Given the description of an element on the screen output the (x, y) to click on. 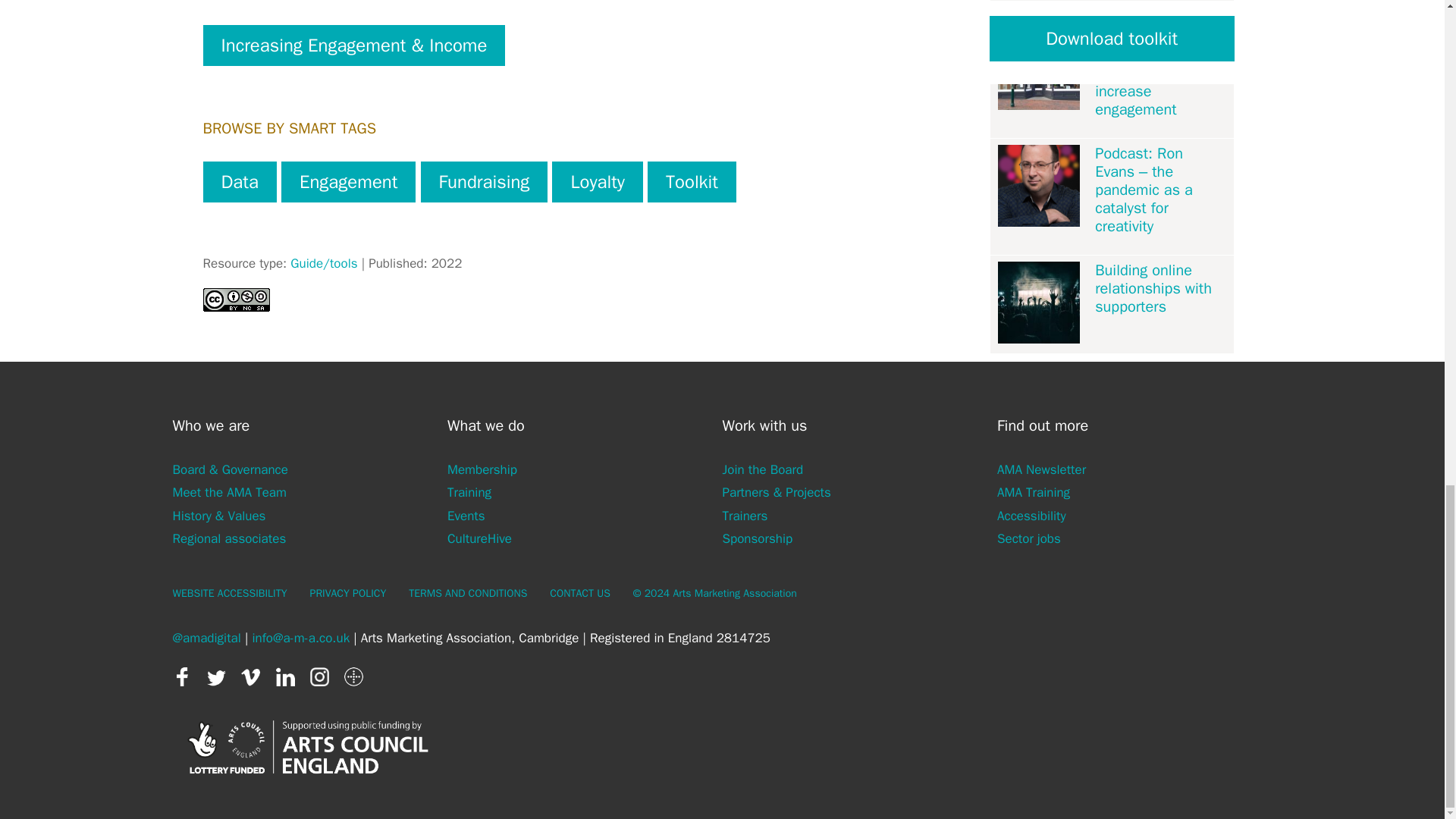
Toolkit (691, 181)
Engagement (347, 181)
Loyalty (596, 181)
Data (239, 181)
Fundraising (484, 181)
